Given the description of an element on the screen output the (x, y) to click on. 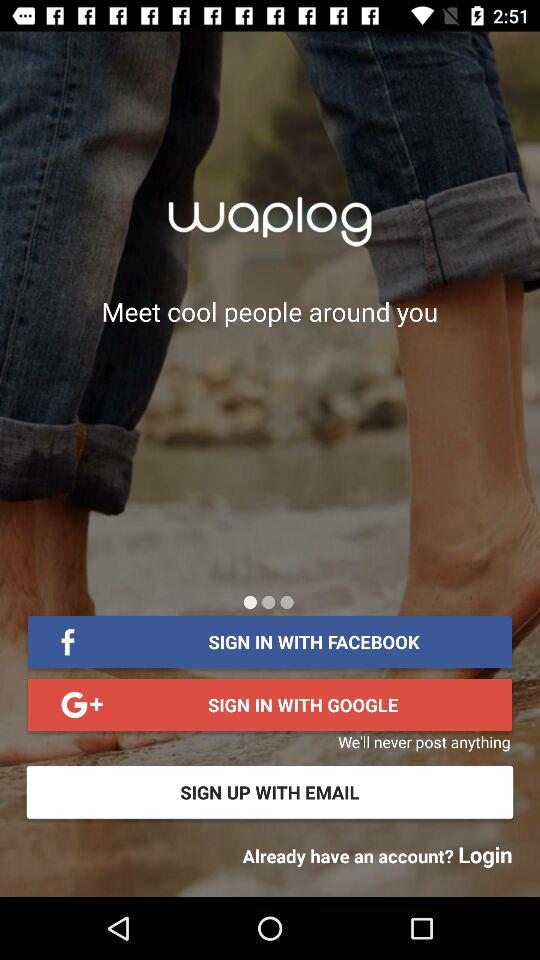
press icon above the sign in with item (286, 601)
